Given the description of an element on the screen output the (x, y) to click on. 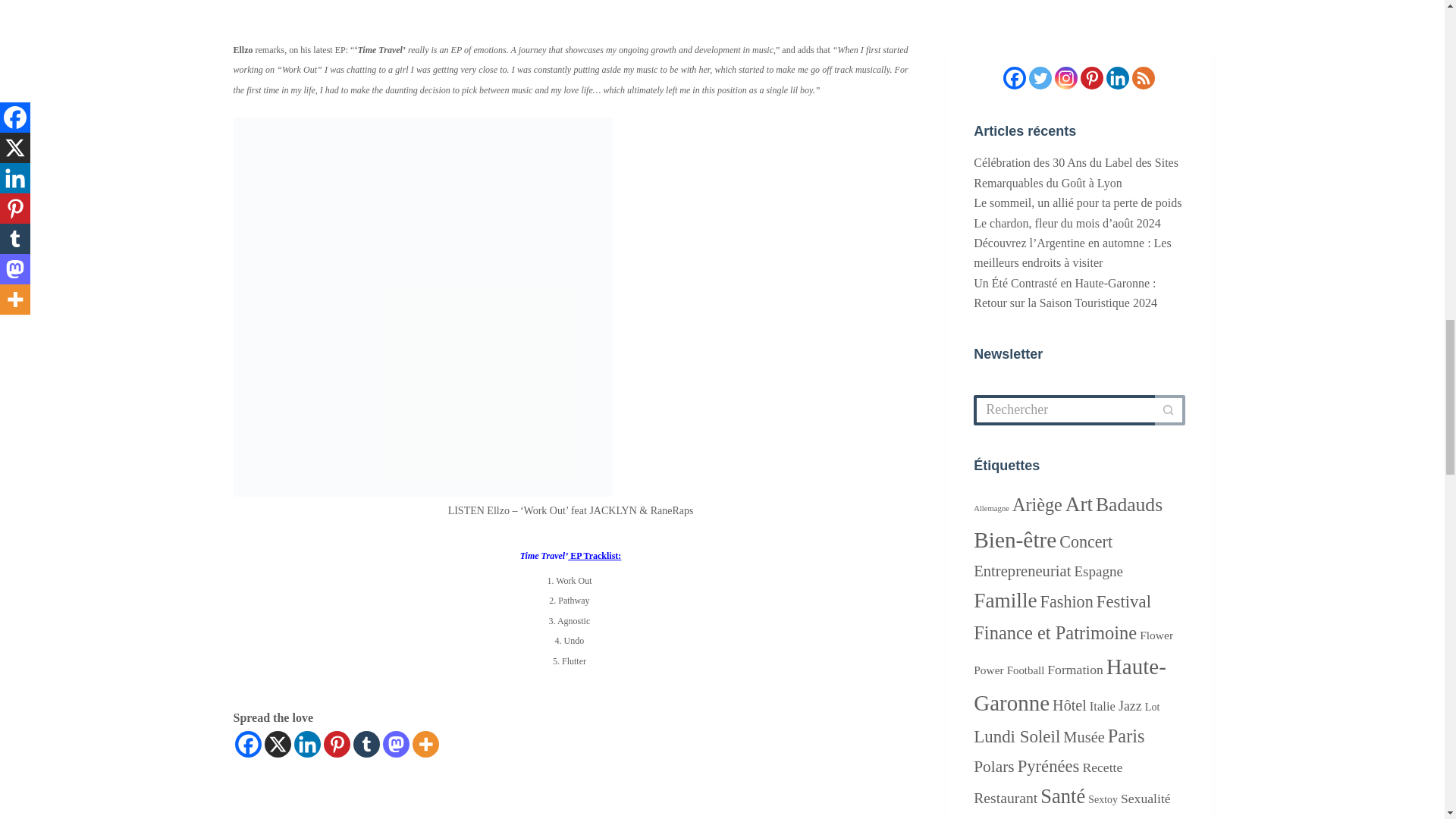
Linkedin (307, 744)
Pinterest (336, 744)
Tumblr (366, 744)
Mastodon (395, 744)
X (276, 744)
More (425, 744)
Facebook (248, 744)
